Given the description of an element on the screen output the (x, y) to click on. 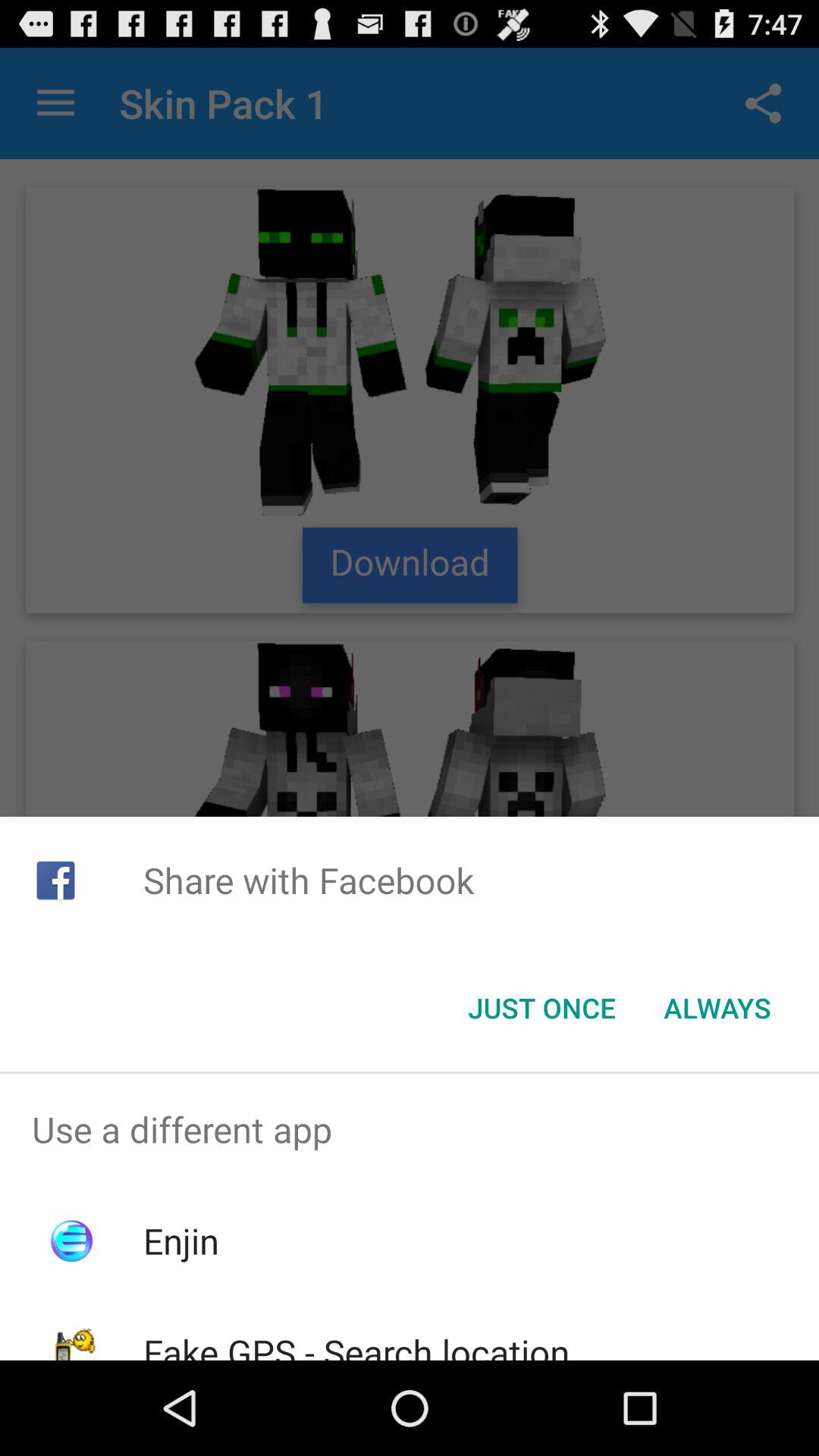
turn off the just once button (541, 1007)
